Given the description of an element on the screen output the (x, y) to click on. 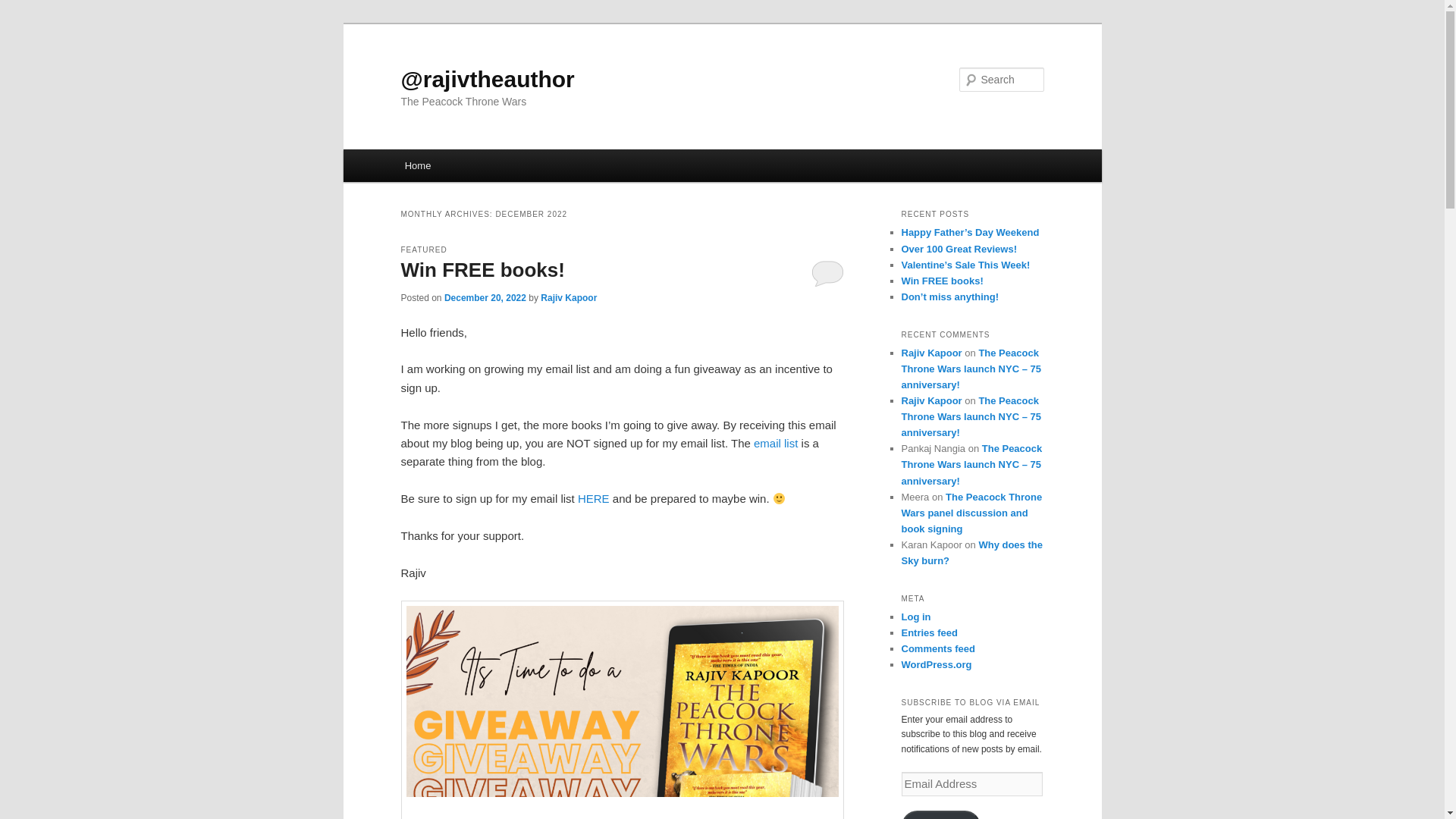
HERE (594, 498)
Win FREE books! (482, 269)
Skip to primary content (472, 168)
Search (24, 8)
Skip to secondary content (479, 168)
Rajiv Kapoor (568, 297)
9:56 pm (484, 297)
Home (417, 165)
email list (776, 442)
December 20, 2022 (484, 297)
